Given the description of an element on the screen output the (x, y) to click on. 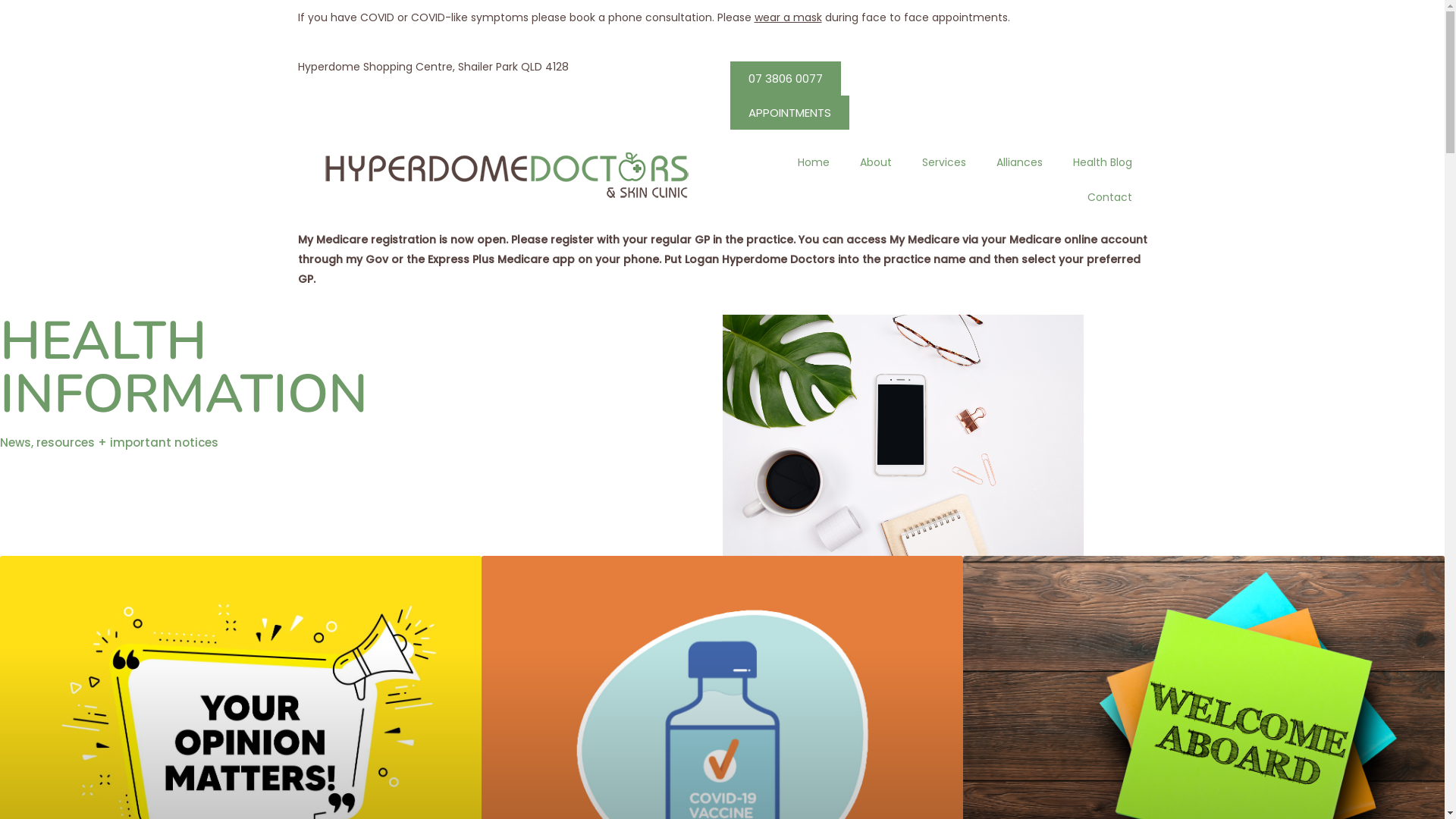
Services Element type: text (943, 161)
APPOINTMENTS Element type: text (788, 112)
Health Blog Element type: text (1101, 161)
07 3806 0077 Element type: text (784, 77)
Alliances Element type: text (1019, 161)
Contact Element type: text (1109, 195)
About Element type: text (875, 161)
Home Element type: text (813, 161)
